Given the description of an element on the screen output the (x, y) to click on. 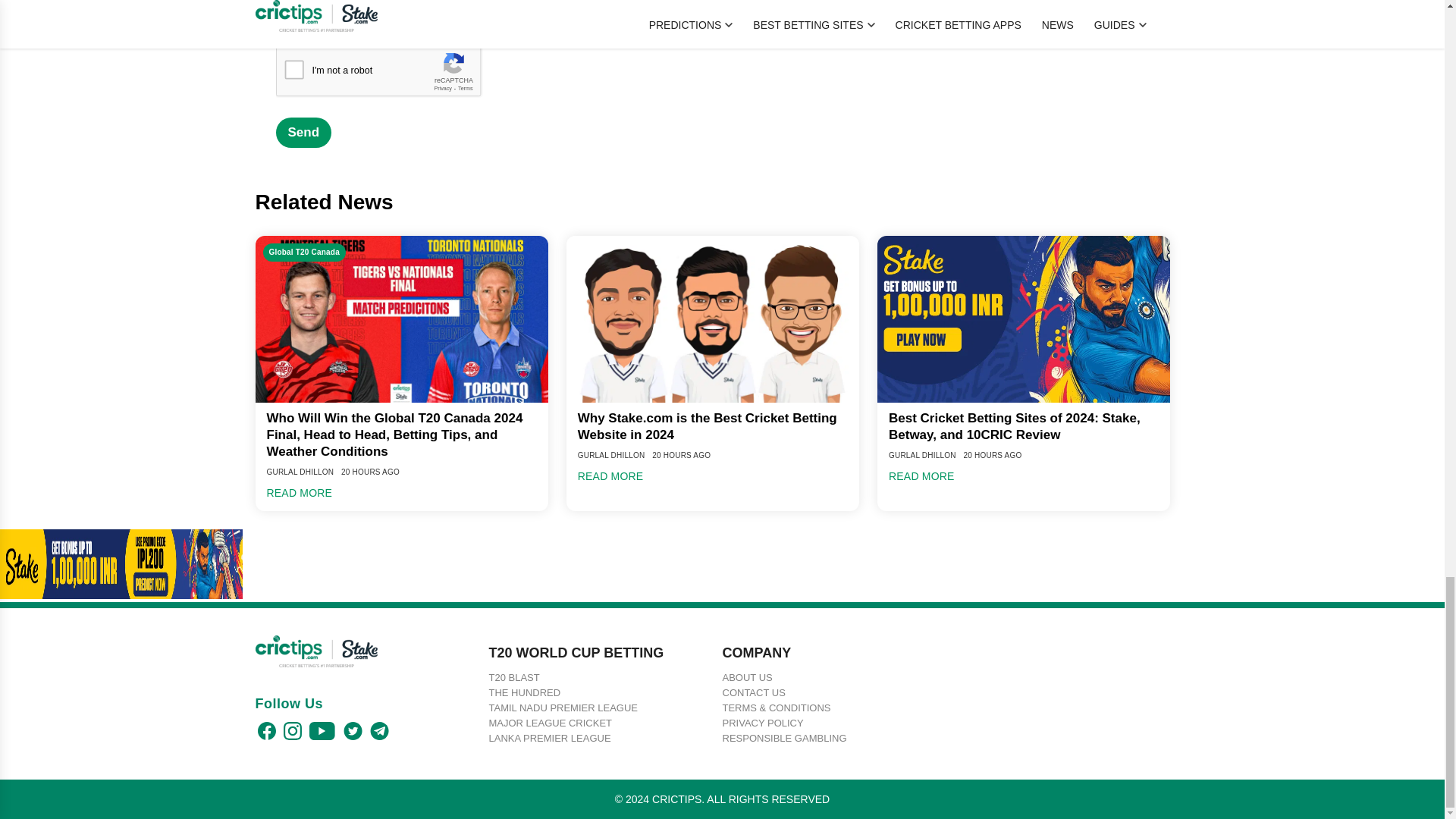
Send (303, 132)
reCAPTCHA (391, 74)
yes (283, 17)
